Given the description of an element on the screen output the (x, y) to click on. 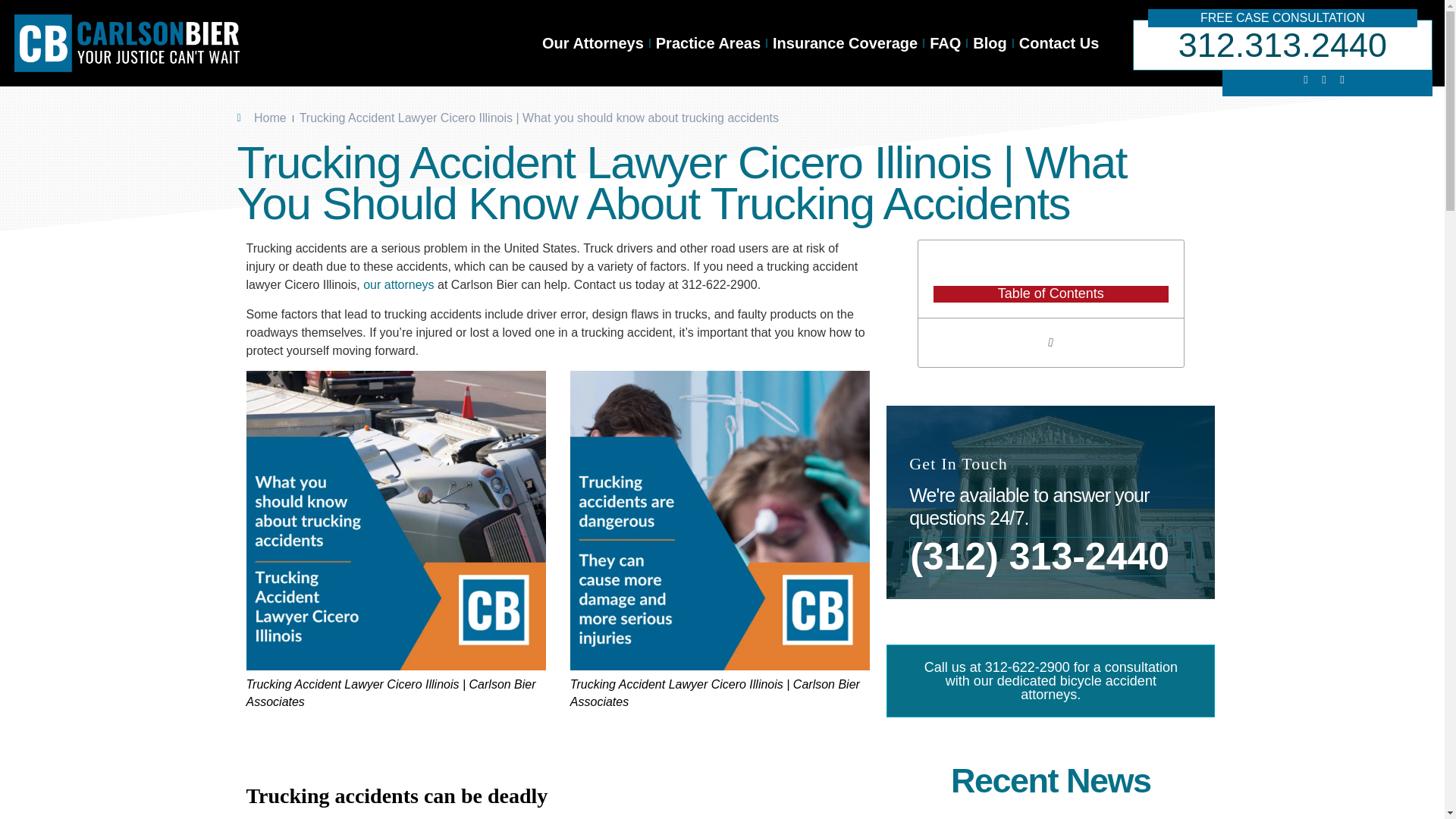
Insurance Coverage (845, 42)
Our Attorneys (593, 42)
Contact Us (1059, 42)
FAQ (945, 42)
Blog (989, 42)
Practice Areas (707, 42)
